Given the description of an element on the screen output the (x, y) to click on. 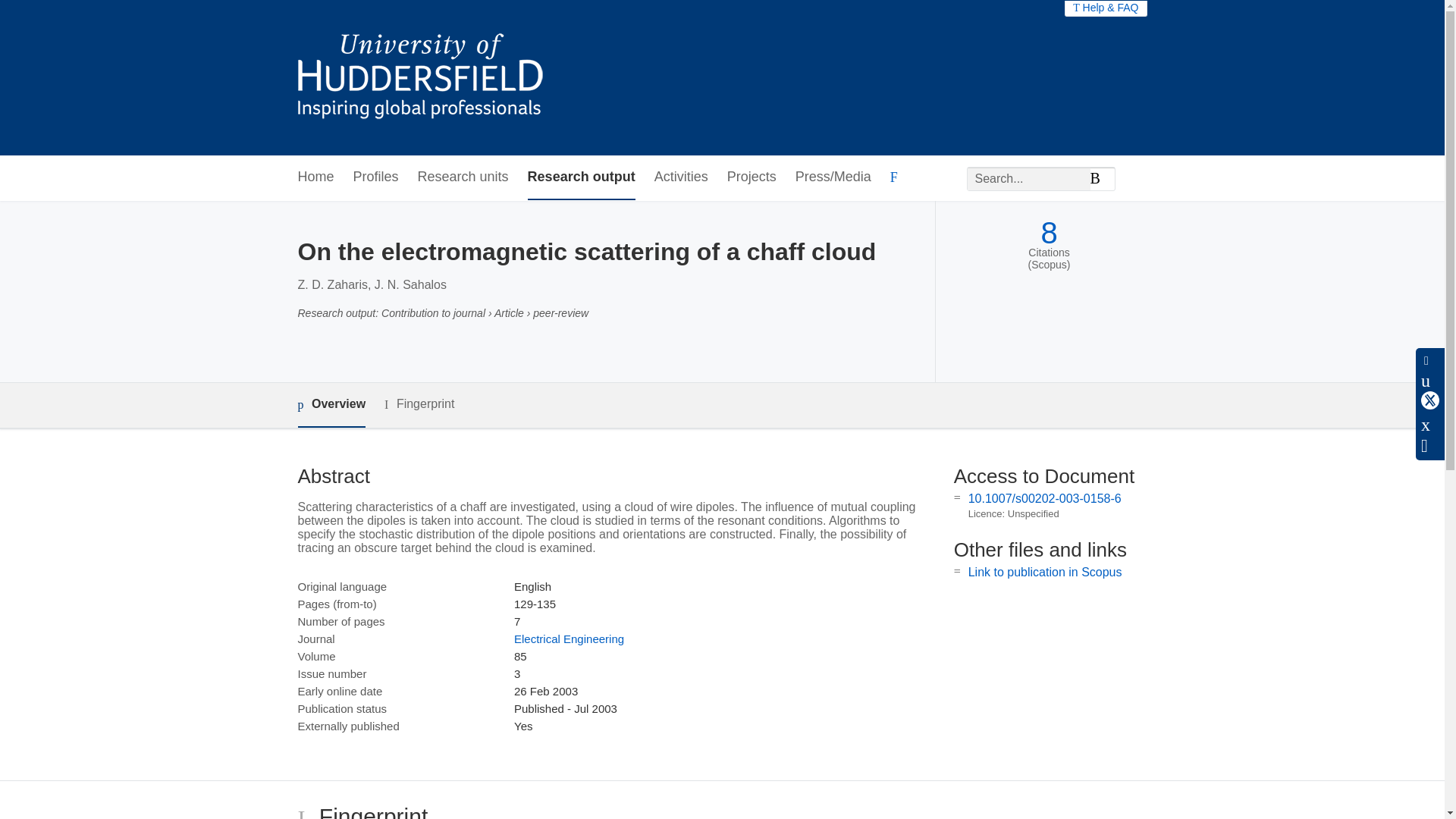
Fingerprint (419, 404)
Electrical Engineering (568, 638)
Activities (680, 177)
Profiles (375, 177)
Overview (331, 405)
Research output (580, 177)
Link to publication in Scopus (1045, 571)
Research units (462, 177)
Projects (751, 177)
University of Huddersfield Research Portal Home (431, 77)
